Given the description of an element on the screen output the (x, y) to click on. 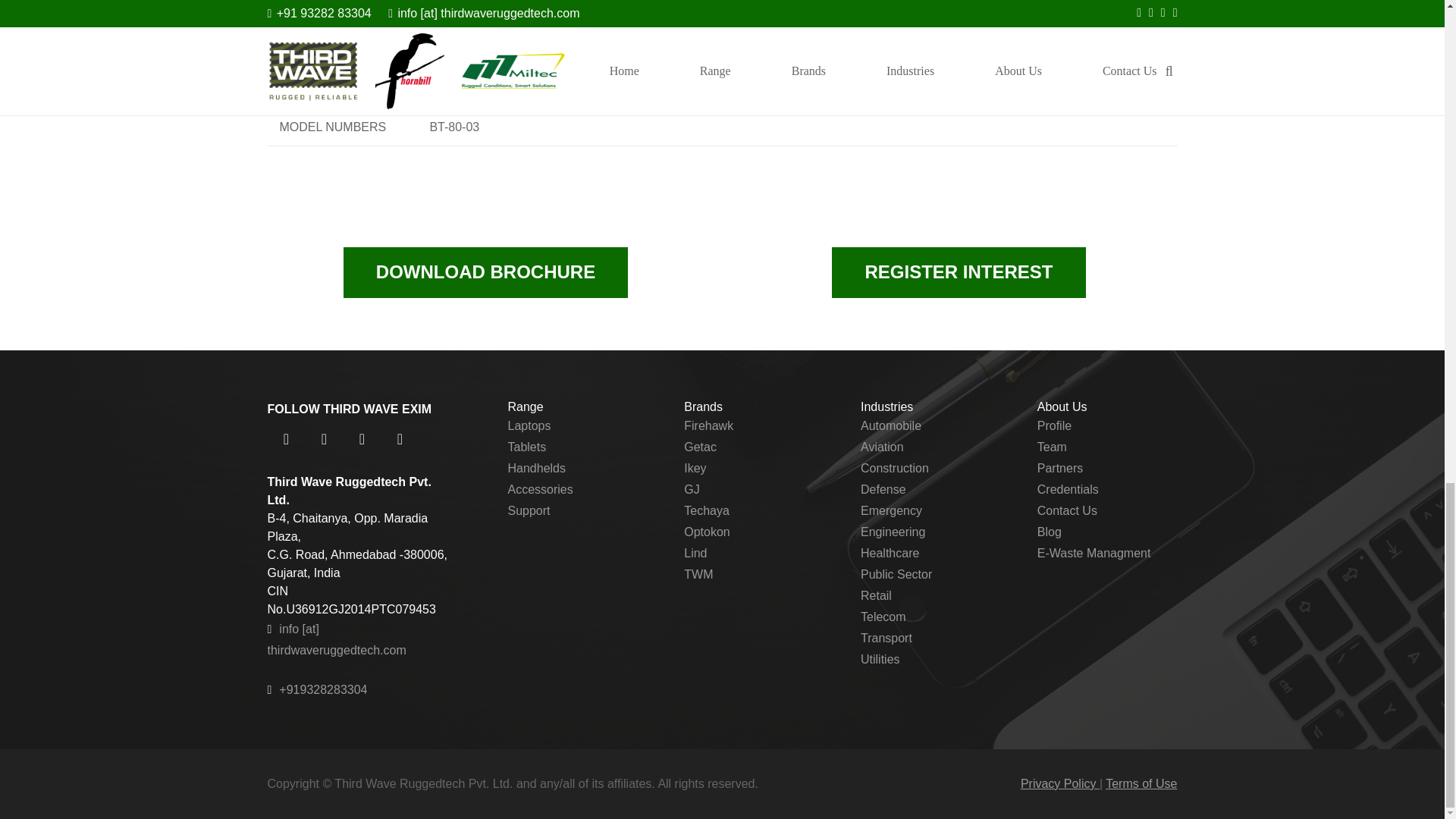
YouTube (399, 438)
Twitter (323, 438)
Facebook (285, 438)
LinkedIn (361, 438)
